Given the description of an element on the screen output the (x, y) to click on. 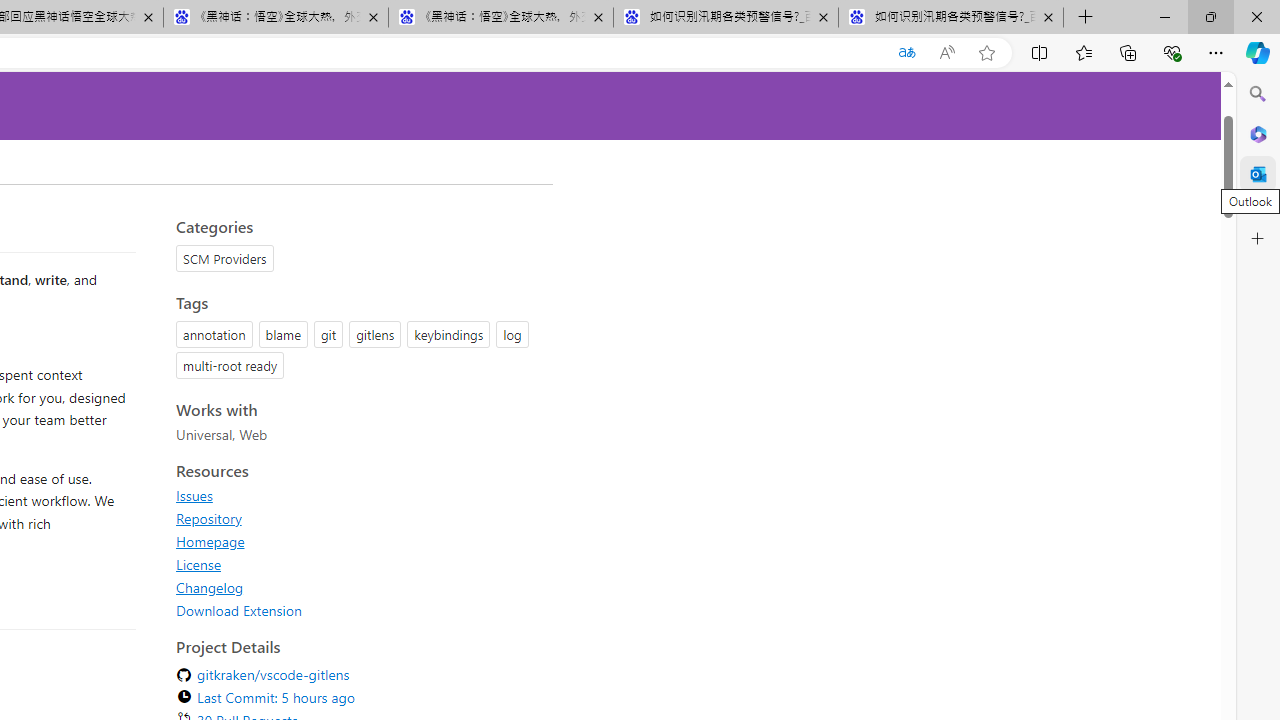
Changelog (210, 587)
Translated (906, 53)
Changelog (358, 587)
Issues (358, 495)
